Given the description of an element on the screen output the (x, y) to click on. 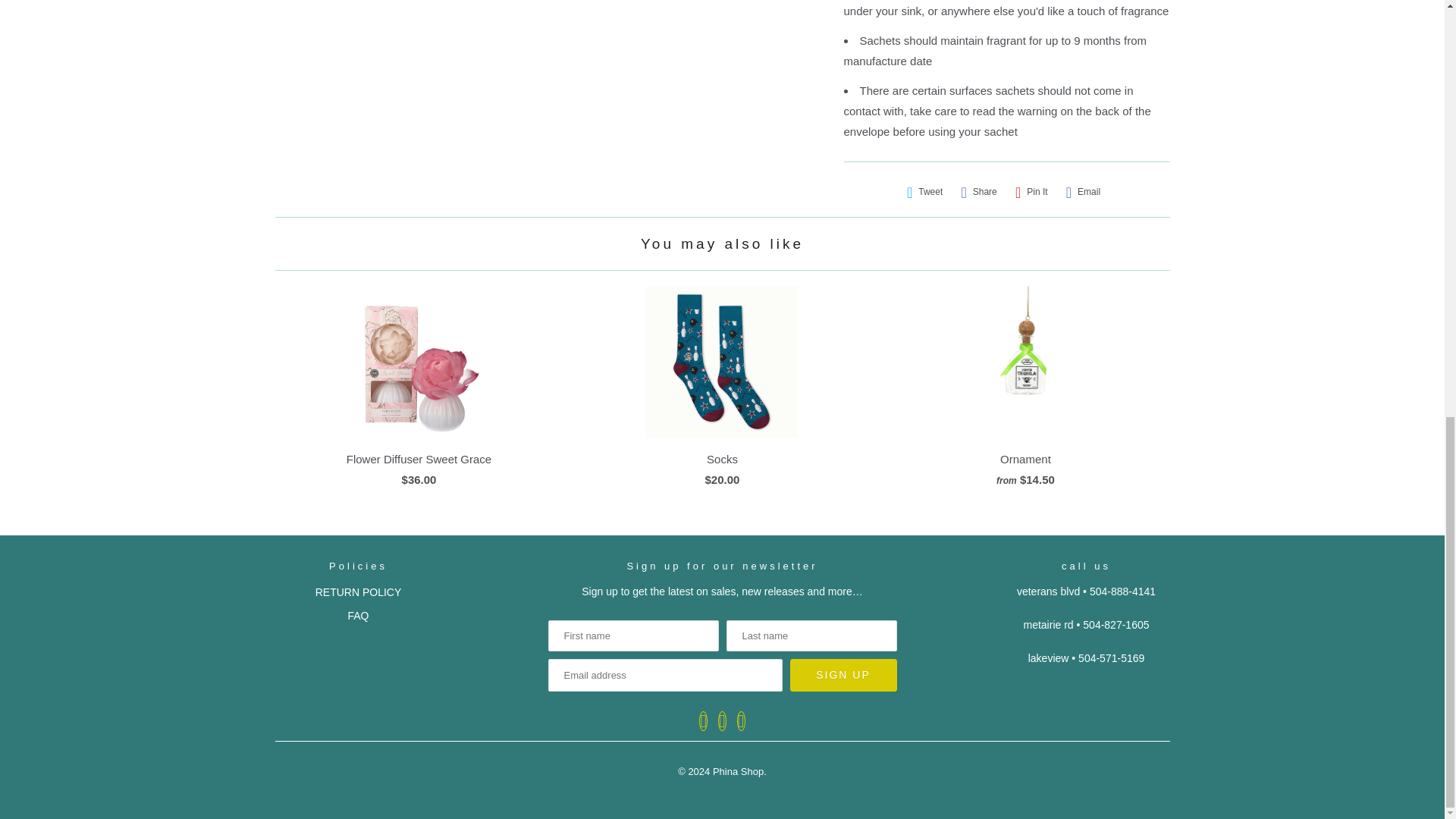
Email this to a friend (1083, 191)
Share this on Twitter (924, 191)
Share this on Pinterest (1031, 191)
tel:504-827-1605 (1115, 624)
Share this on Facebook (978, 191)
Sign Up (843, 675)
tel:504-571-5169 (1111, 657)
tel:504-888-4141 (1122, 591)
